Given the description of an element on the screen output the (x, y) to click on. 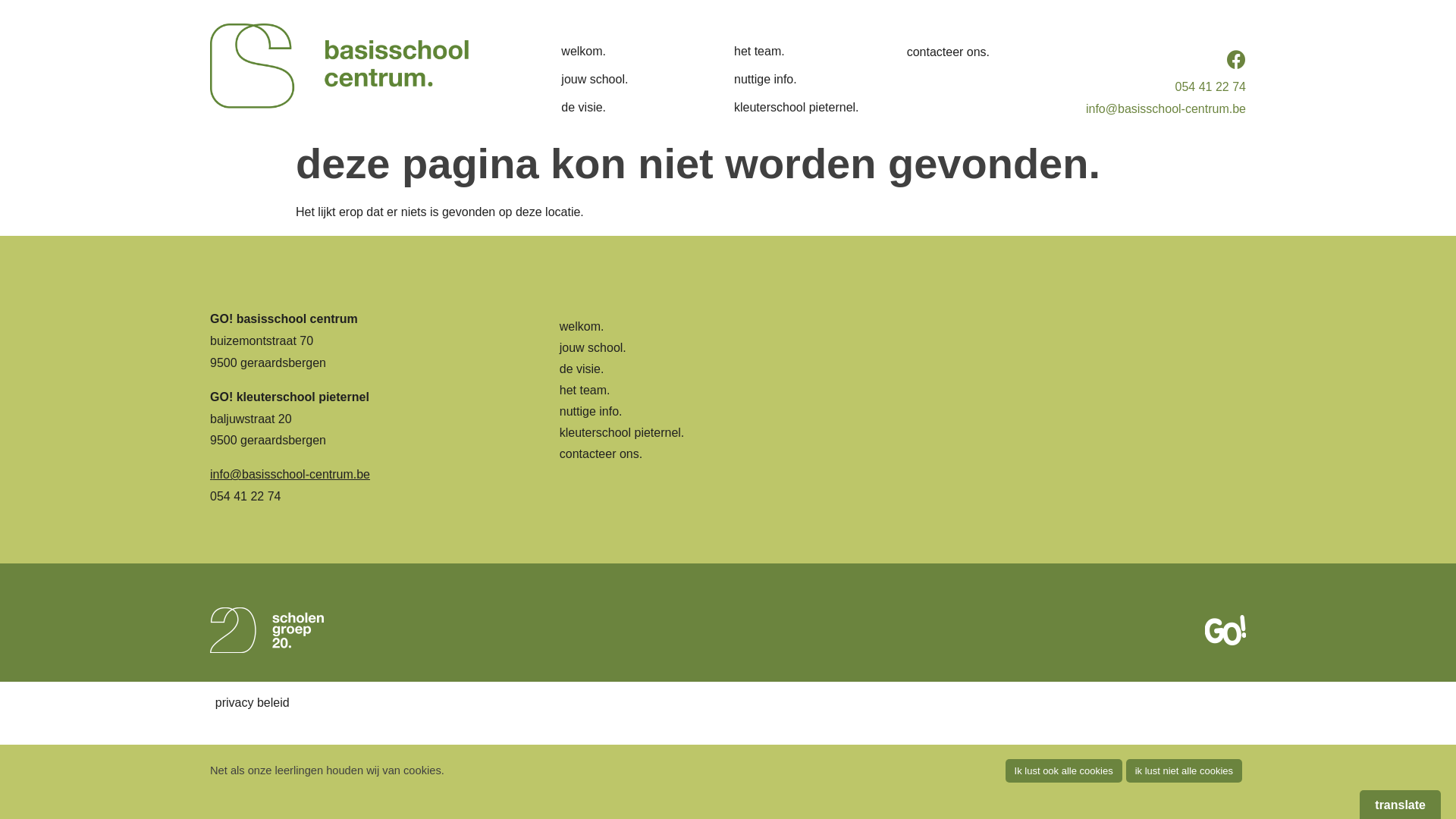
welkom. Element type: text (898, 326)
de visie. Element type: text (624, 107)
jouw school. Element type: text (898, 347)
054 41 22 74 Element type: text (245, 495)
054 41 22 74 Element type: text (1210, 86)
kleuterschool pieternel. Element type: text (797, 107)
nuttige info. Element type: text (797, 79)
nuttige info. Element type: text (898, 411)
contacteer ons. Element type: text (969, 52)
het team. Element type: text (898, 390)
privacy beleid Element type: text (252, 702)
welkom. Element type: text (624, 51)
jouw school. Element type: text (624, 79)
kleuterschool pieternel. Element type: text (898, 432)
logo-sgr20-white-outline Element type: hover (266, 629)
info@basisschool-centrum.be Element type: text (290, 473)
het team. Element type: text (797, 51)
Ik lust ook alle cookies Element type: text (1063, 770)
ik lust niet alle cookies Element type: text (1184, 770)
de visie. Element type: text (898, 368)
info@basisschool-centrum.be Element type: text (1165, 108)
logo-GO-wit Element type: hover (1224, 630)
contacteer ons. Element type: text (898, 453)
